Given the description of an element on the screen output the (x, y) to click on. 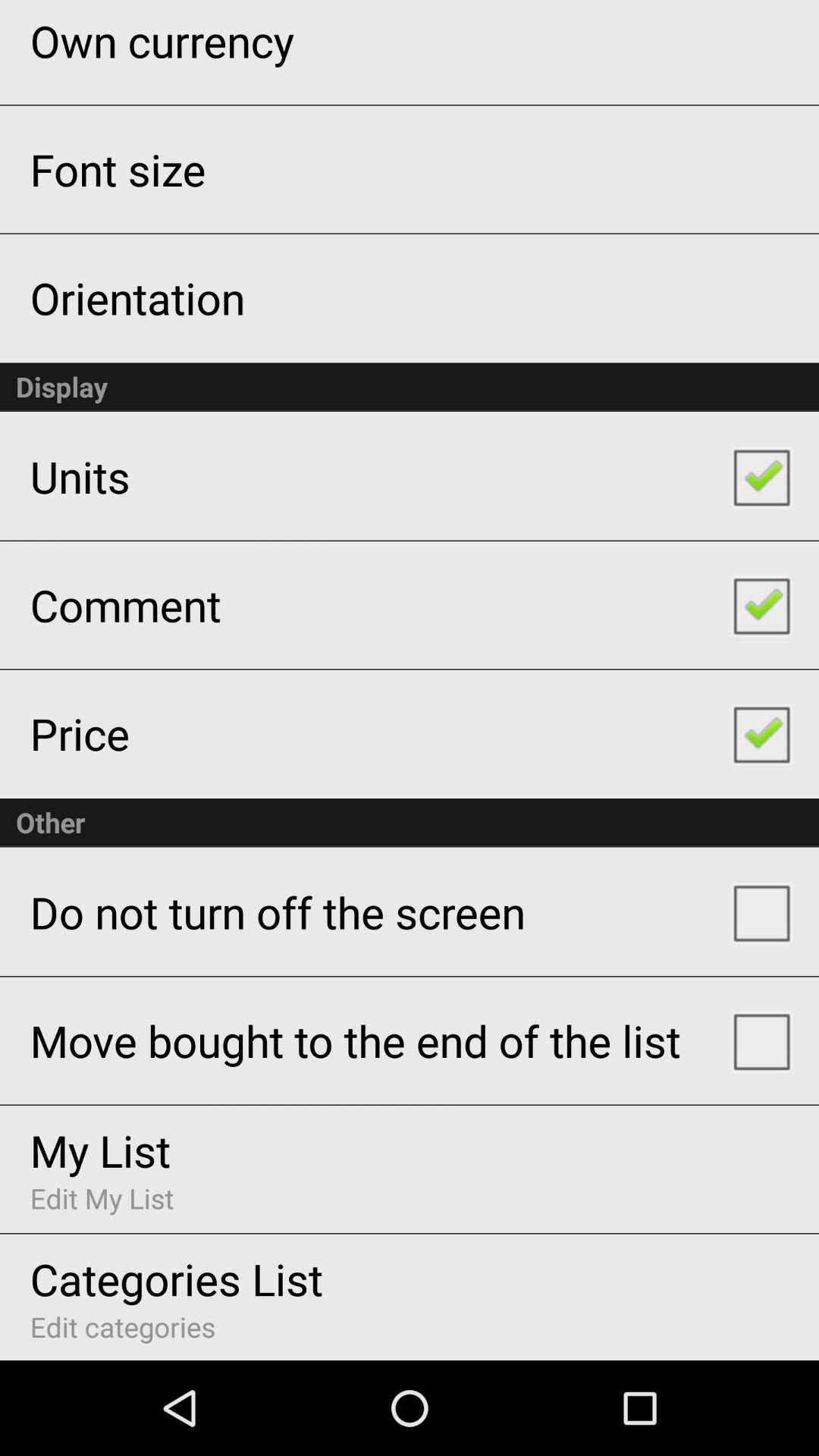
scroll until the font size item (117, 168)
